Given the description of an element on the screen output the (x, y) to click on. 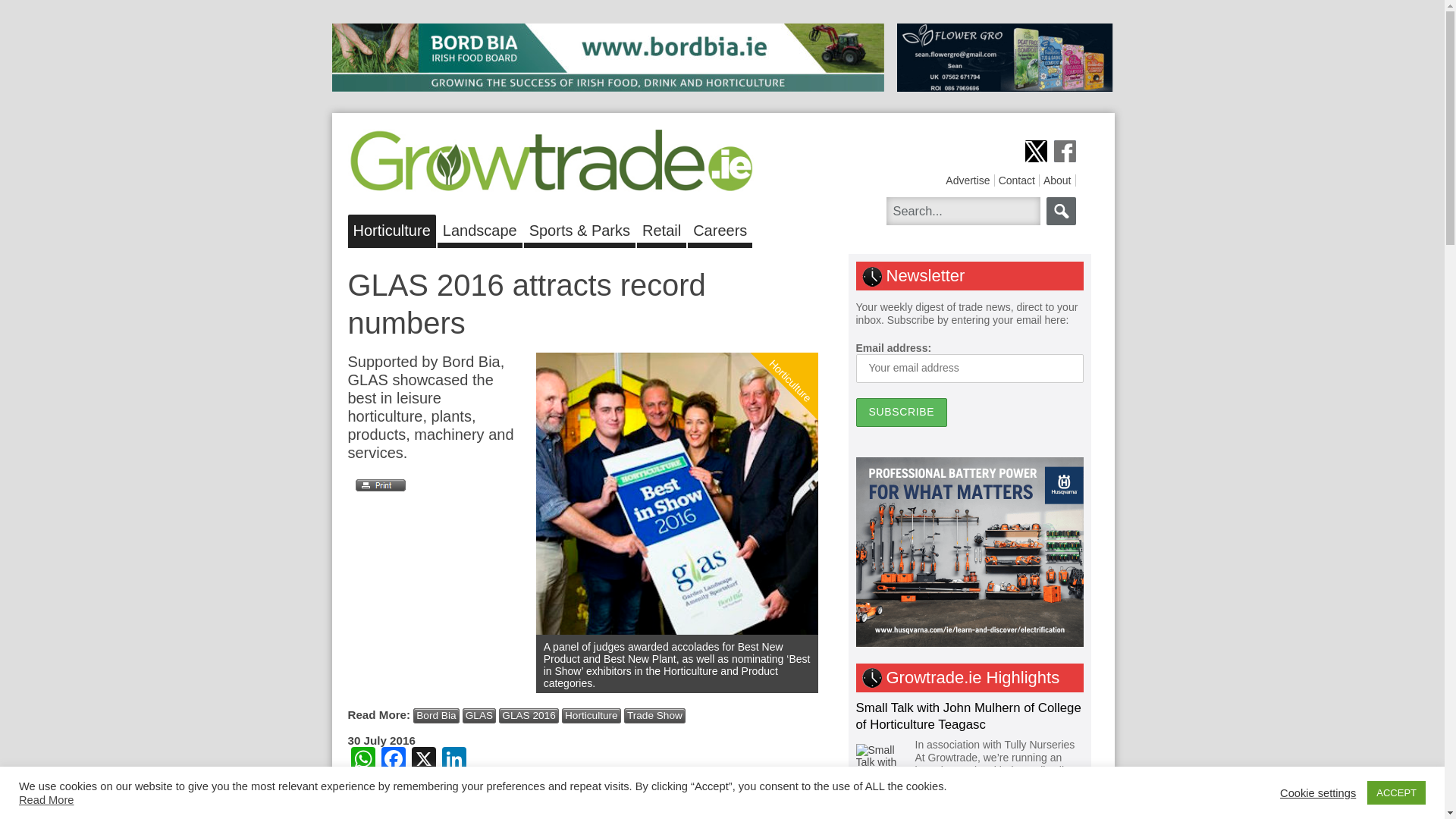
Search... (962, 211)
Advertise (967, 180)
GLAS 2016 (528, 715)
WhatsApp (362, 760)
Print (375, 485)
Horticulture (806, 318)
Careers (719, 228)
Bord Bia (435, 715)
Retail (661, 228)
Contact (1016, 180)
